Given the description of an element on the screen output the (x, y) to click on. 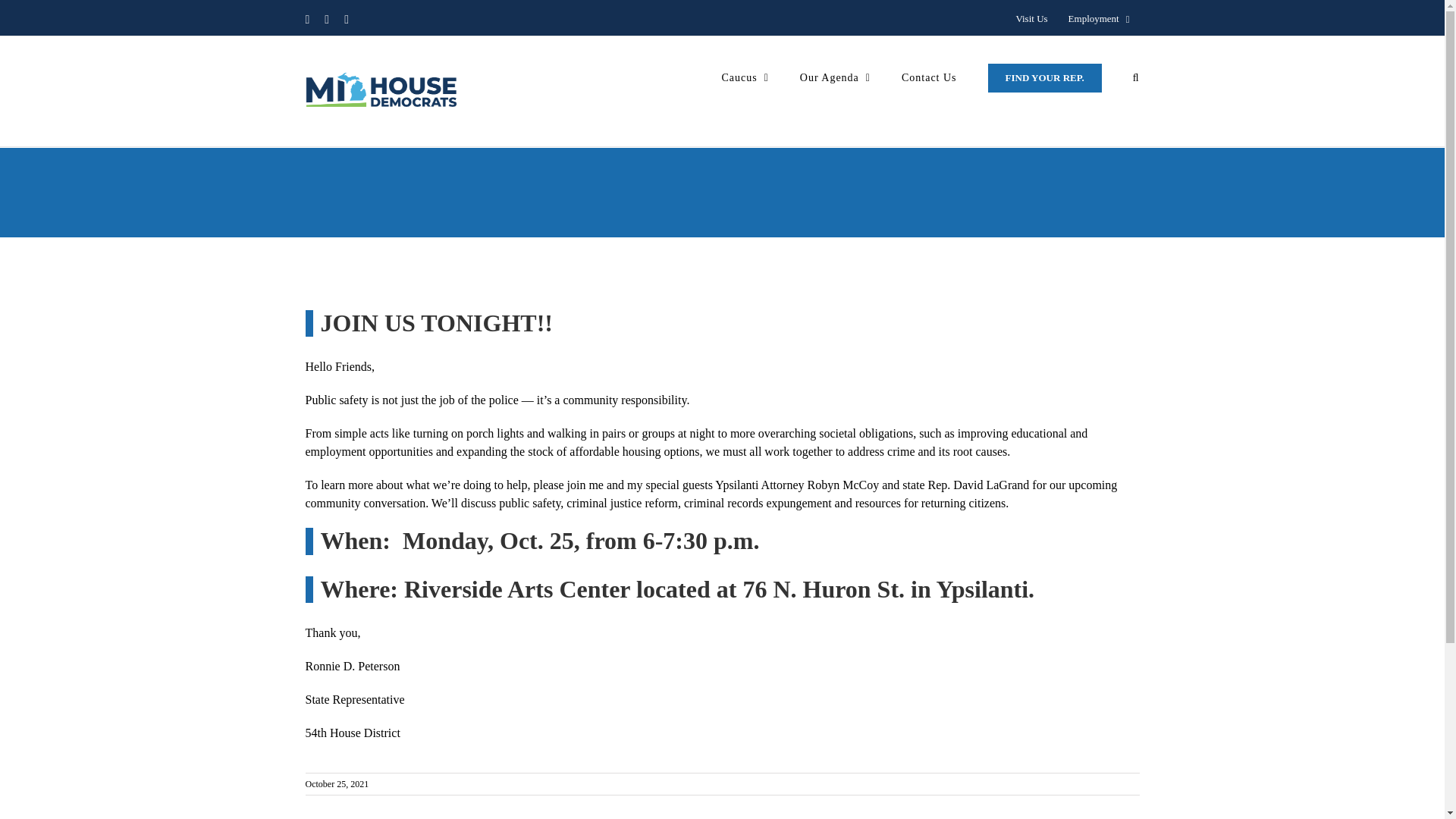
Employment (1099, 19)
FIND YOUR REP. (1045, 78)
Visit Us (1031, 19)
Our Agenda (834, 78)
